Given the description of an element on the screen output the (x, y) to click on. 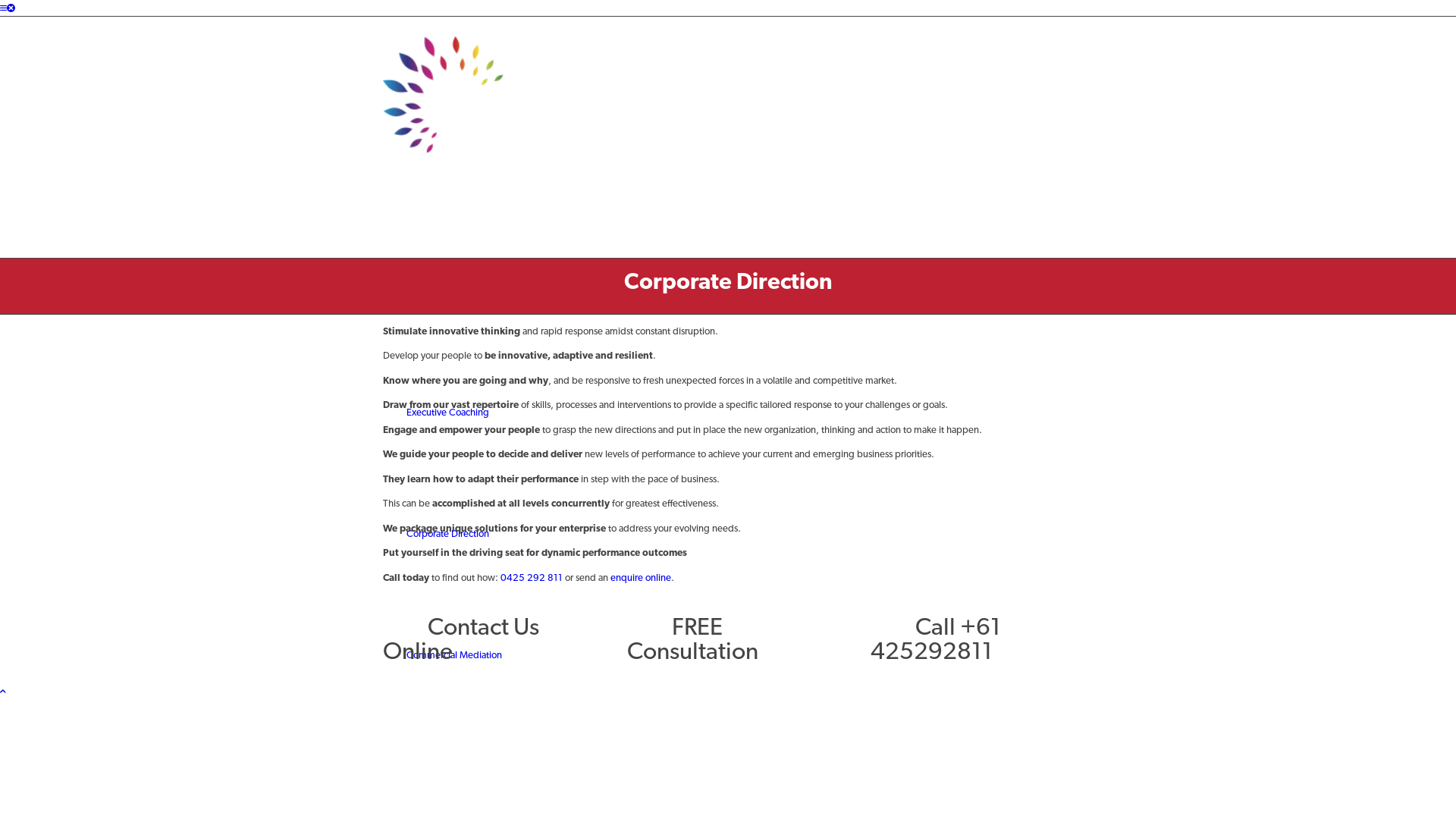
Corporate Direction Element type: text (447, 533)
Commercial Mediation Element type: text (454, 654)
Scroll to top Element type: hover (3, 690)
0425 292 811 Element type: text (531, 577)
Home Element type: text (419, 290)
Corporate Direction Element type: text (727, 280)
enquire online Element type: text (640, 577)
Executive Coaching Element type: text (447, 411)
